Given the description of an element on the screen output the (x, y) to click on. 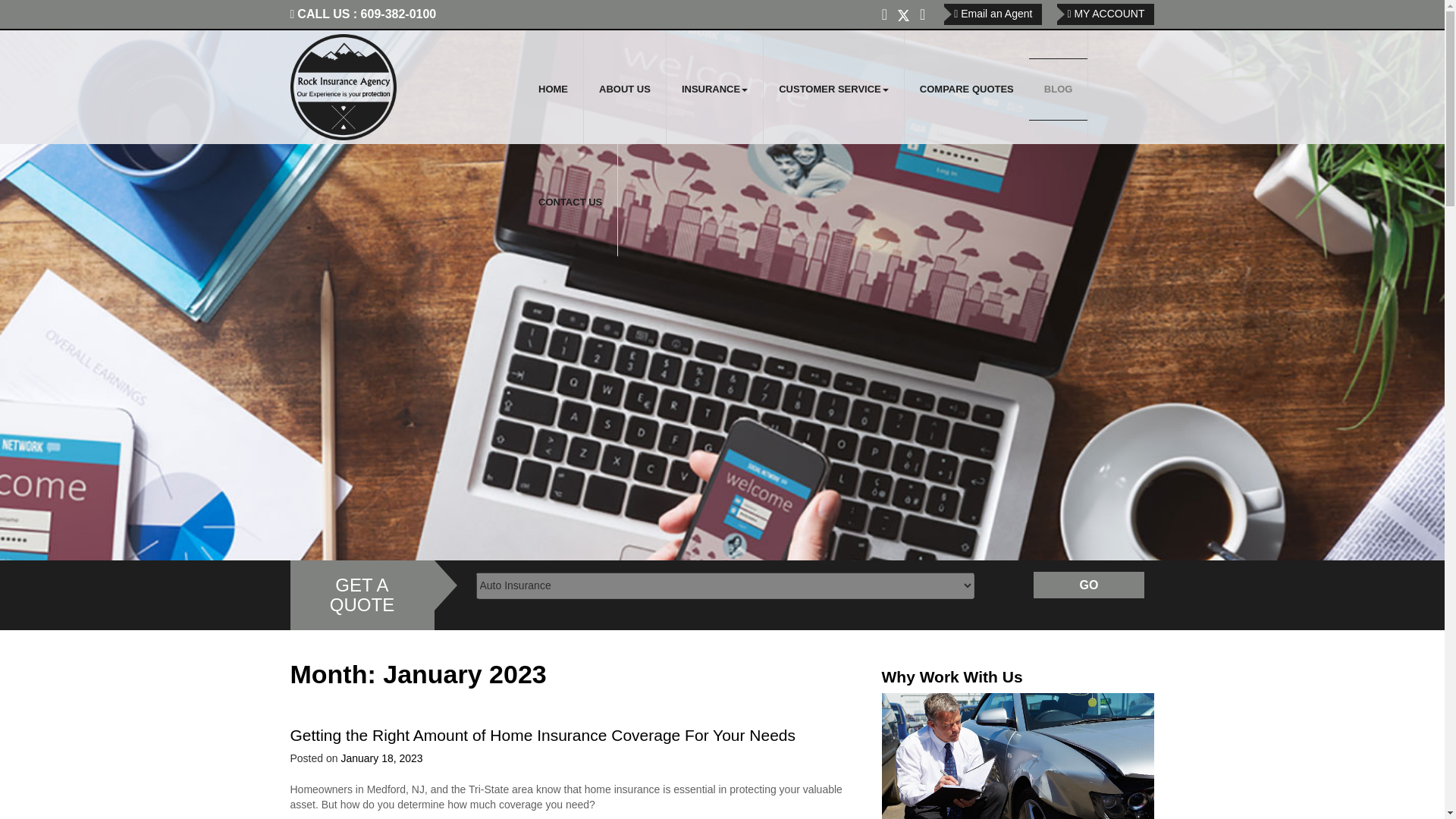
HOME (552, 89)
INSURANCE (714, 89)
ABOUT US (624, 89)
MY ACCOUNT (1105, 14)
CUSTOMER SERVICE (833, 89)
My Account (1105, 14)
Email an Agent (992, 14)
Email an Agent (992, 14)
